Given the description of an element on the screen output the (x, y) to click on. 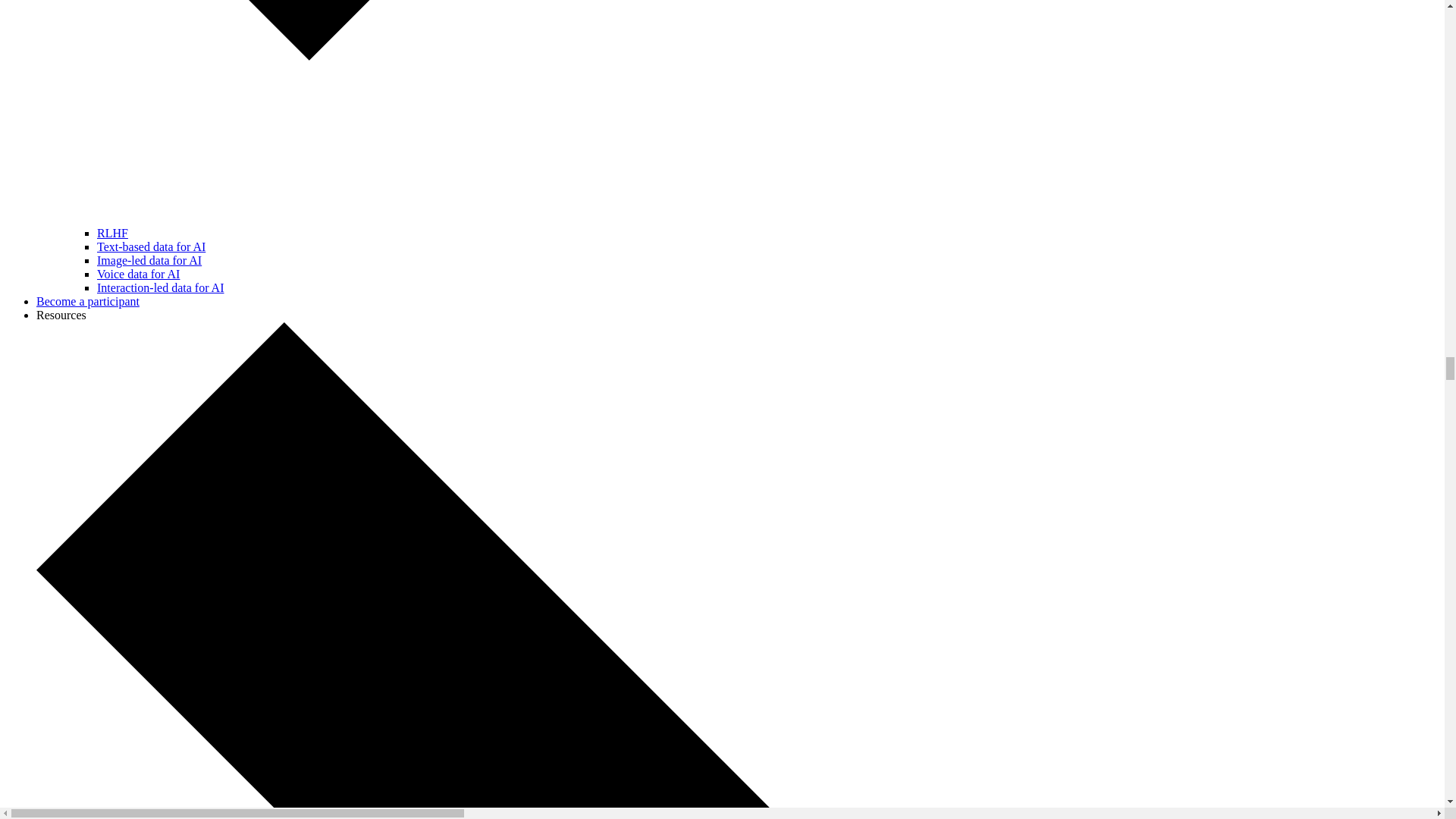
Text-based data for AI (151, 246)
Voice data for AI (138, 273)
Interaction-led data for AI (160, 287)
RLHF (112, 232)
Image-led data for AI (149, 259)
Become a participant (87, 300)
